Given the description of an element on the screen output the (x, y) to click on. 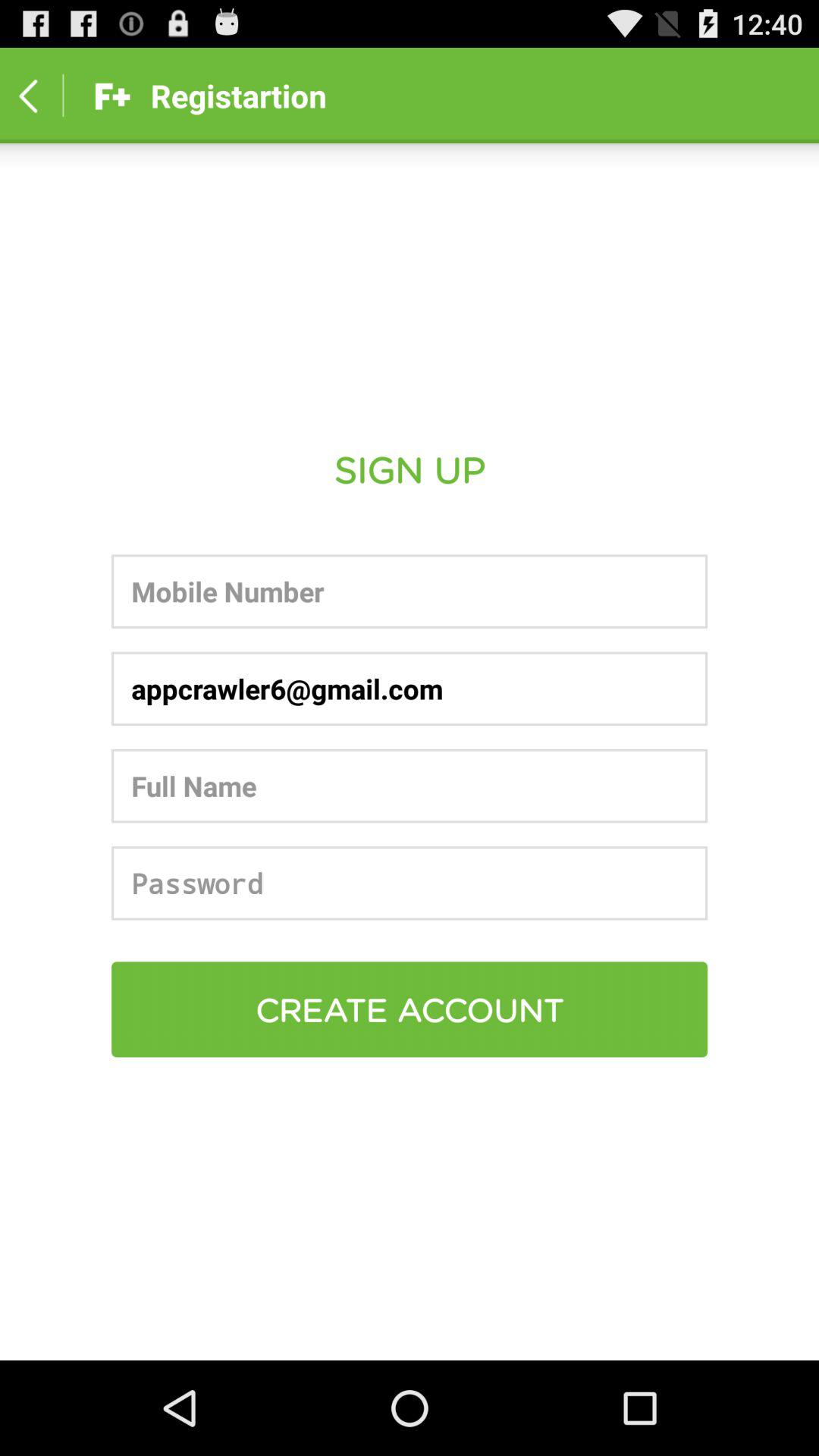
insert mobile number (409, 591)
